Given the description of an element on the screen output the (x, y) to click on. 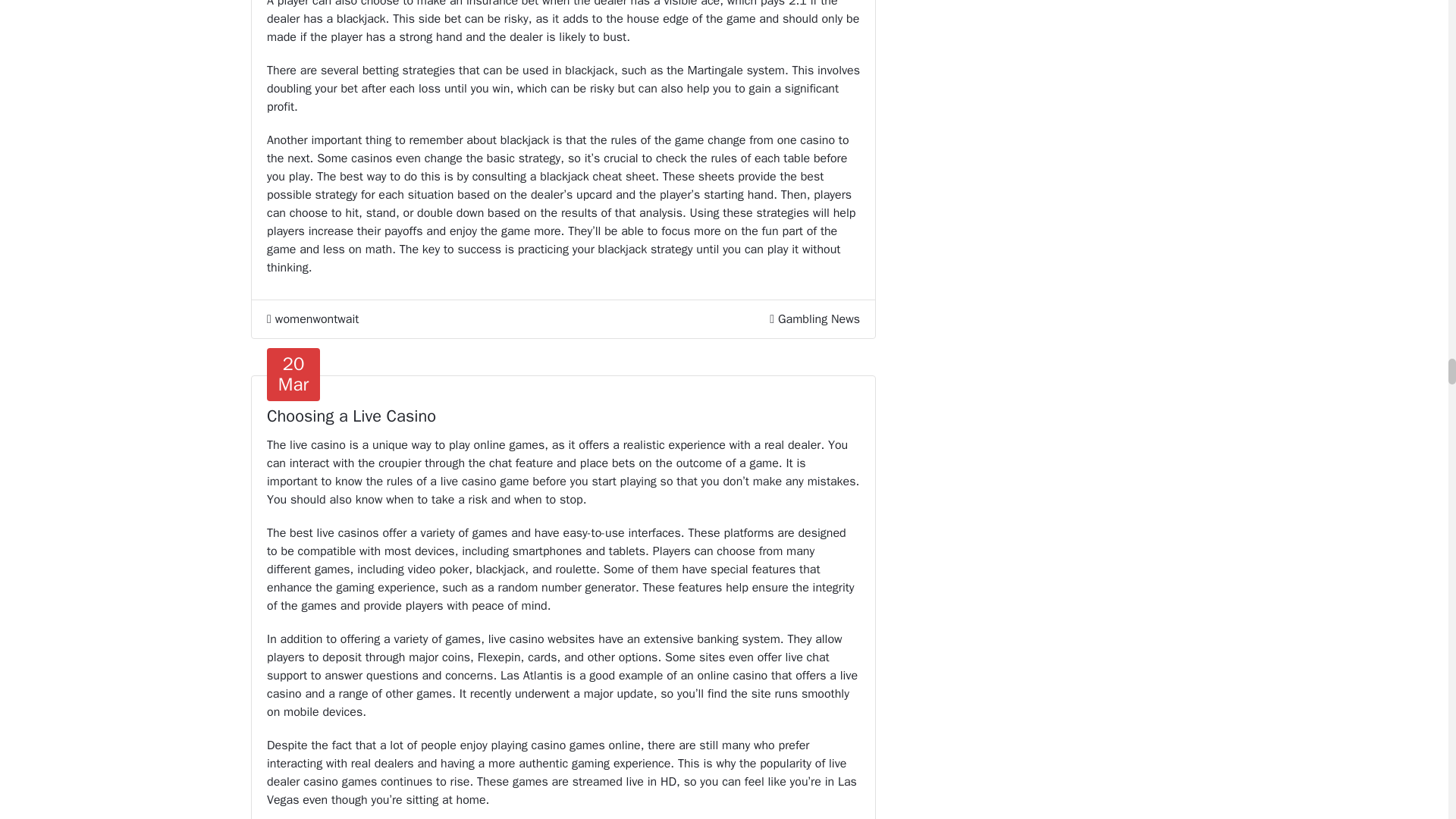
womenwontwait (312, 319)
